Given the description of an element on the screen output the (x, y) to click on. 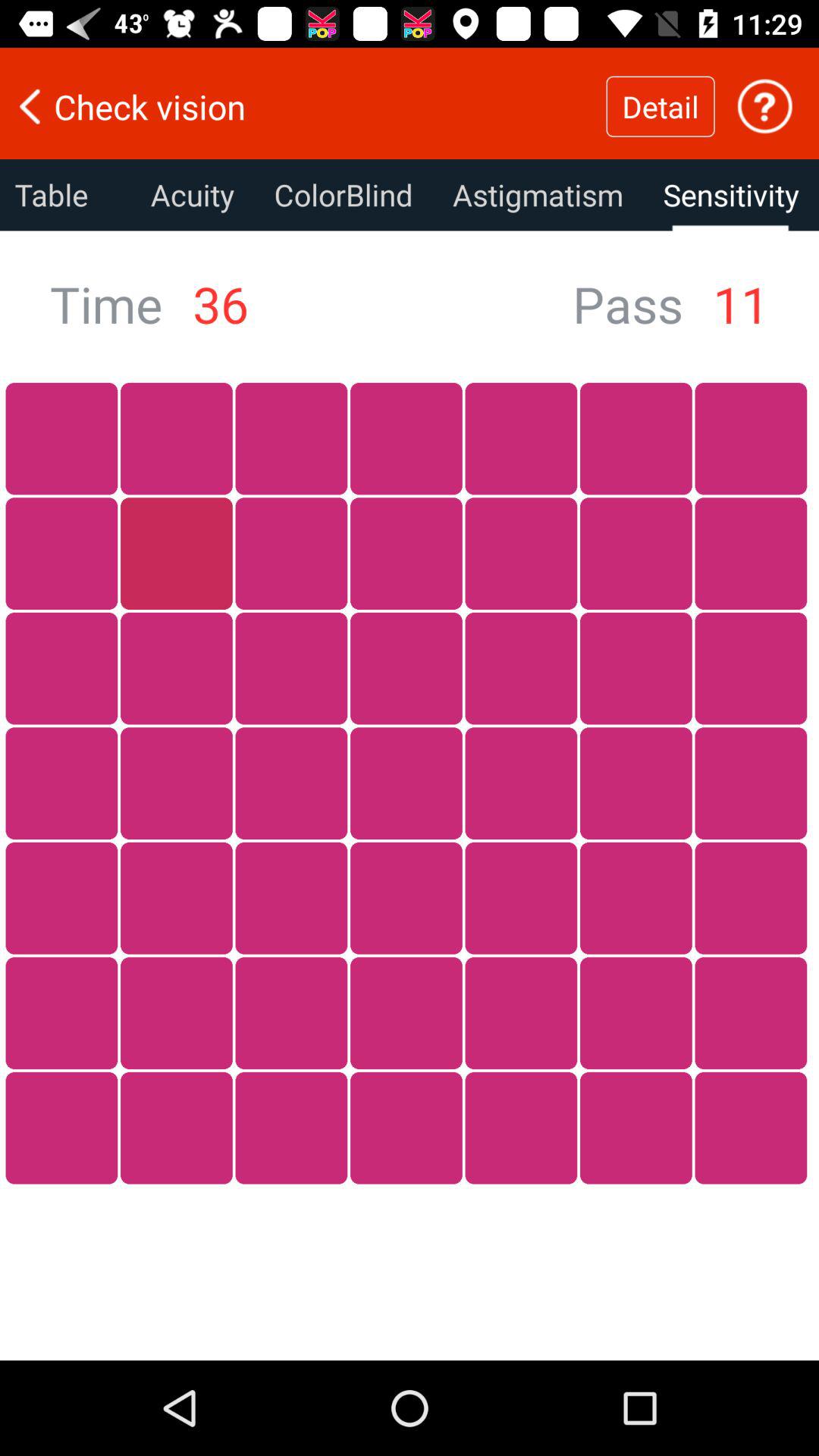
select check vision (303, 106)
